Given the description of an element on the screen output the (x, y) to click on. 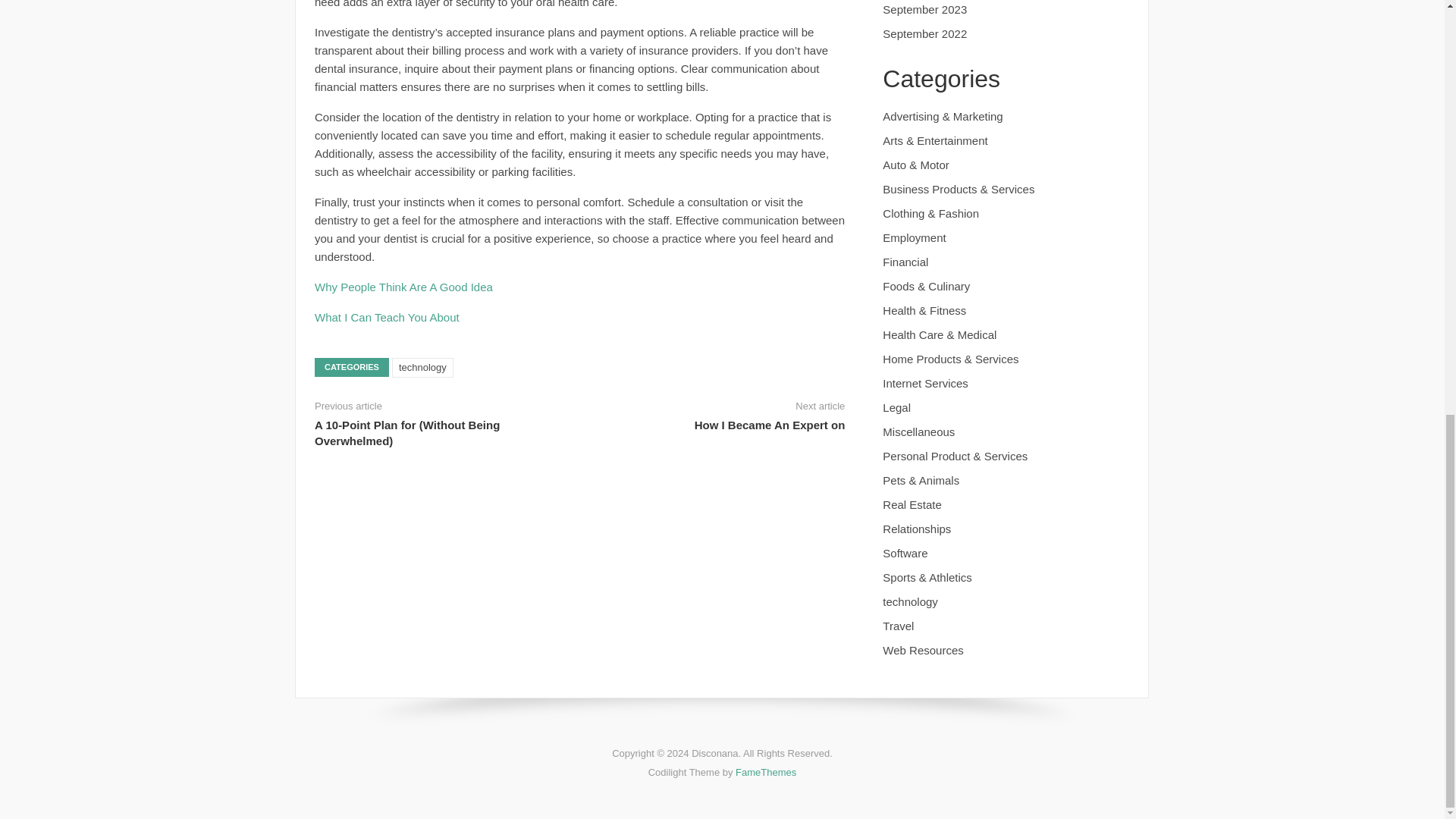
September 2023 (924, 9)
What I Can Teach You About (387, 317)
How I Became An Expert on (769, 424)
technology (421, 367)
September 2022 (924, 33)
Employment (913, 237)
Financial (905, 261)
Why People Think Are A Good Idea (403, 286)
